Given the description of an element on the screen output the (x, y) to click on. 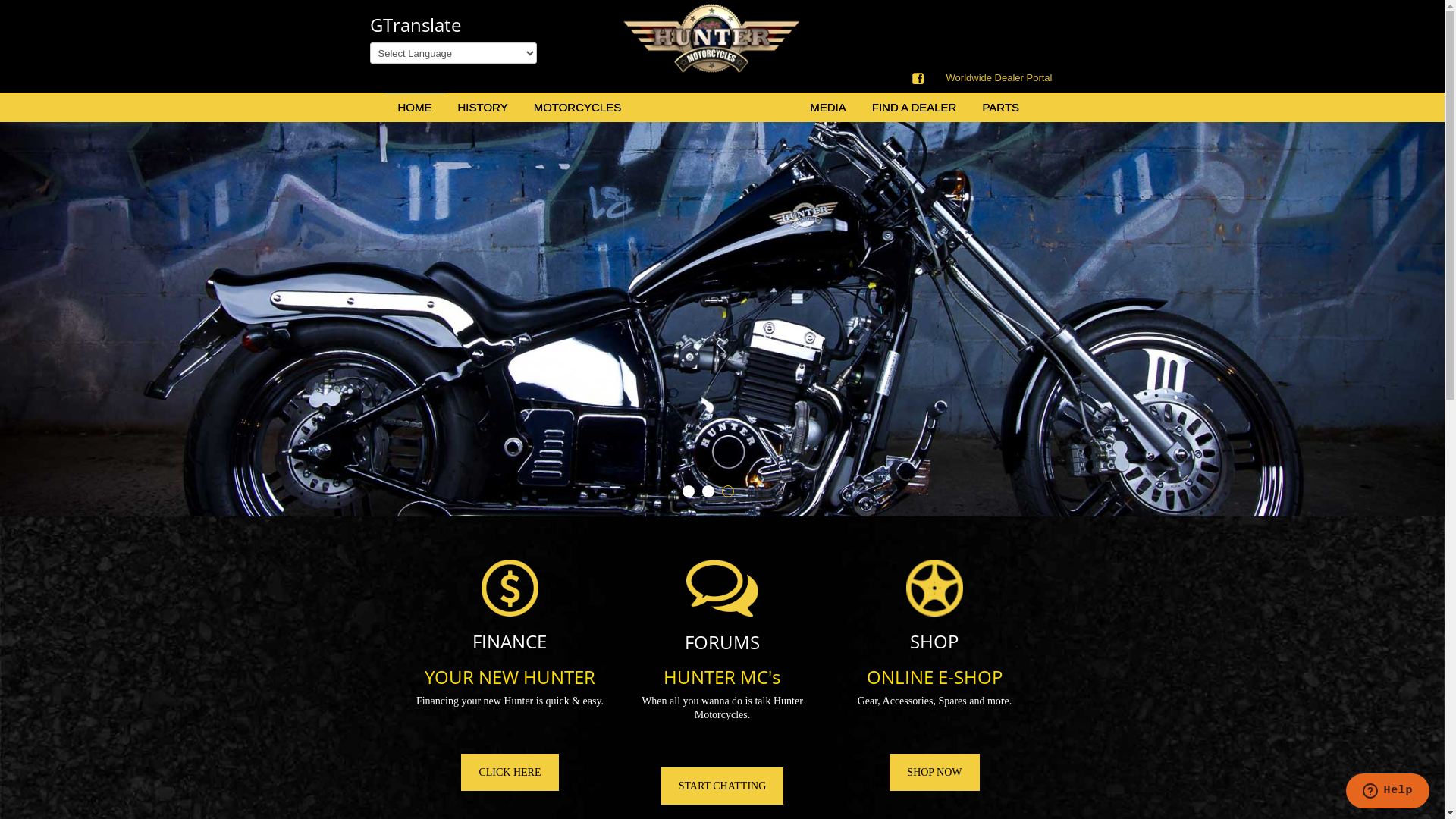
Worldwide Dealer Portal Element type: text (999, 77)
FIND A DEALER Element type: text (914, 107)
START CHATTING Element type: text (722, 785)
SHOP NOW Element type: text (934, 771)
HISTORY Element type: text (482, 107)
Opens a widget where you can chat to one of our agents Element type: hover (1387, 792)
HOME Element type: text (414, 107)
CLICK HERE Element type: text (509, 771)
